Given the description of an element on the screen output the (x, y) to click on. 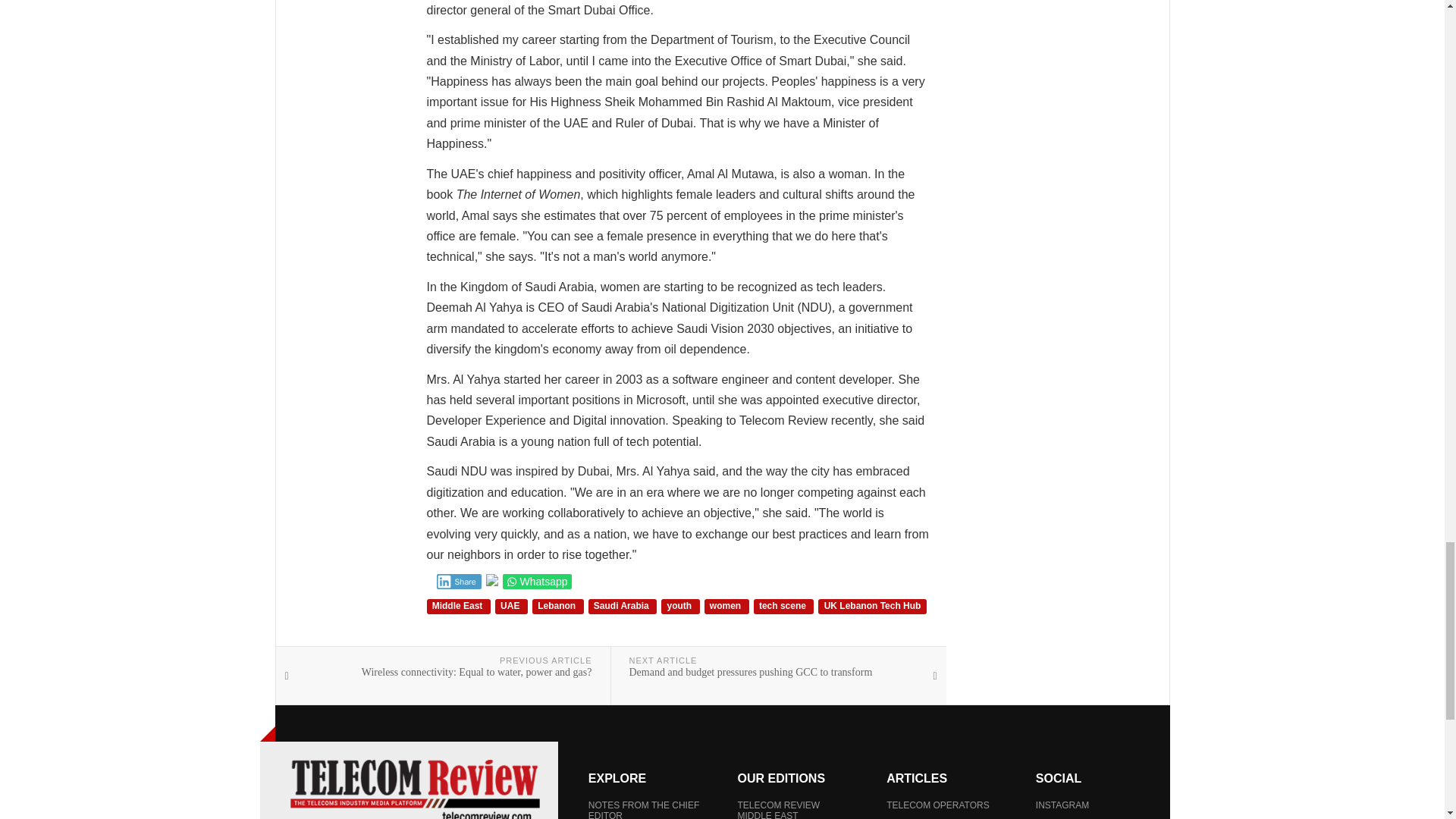
Telecom Review (413, 789)
